Given the description of an element on the screen output the (x, y) to click on. 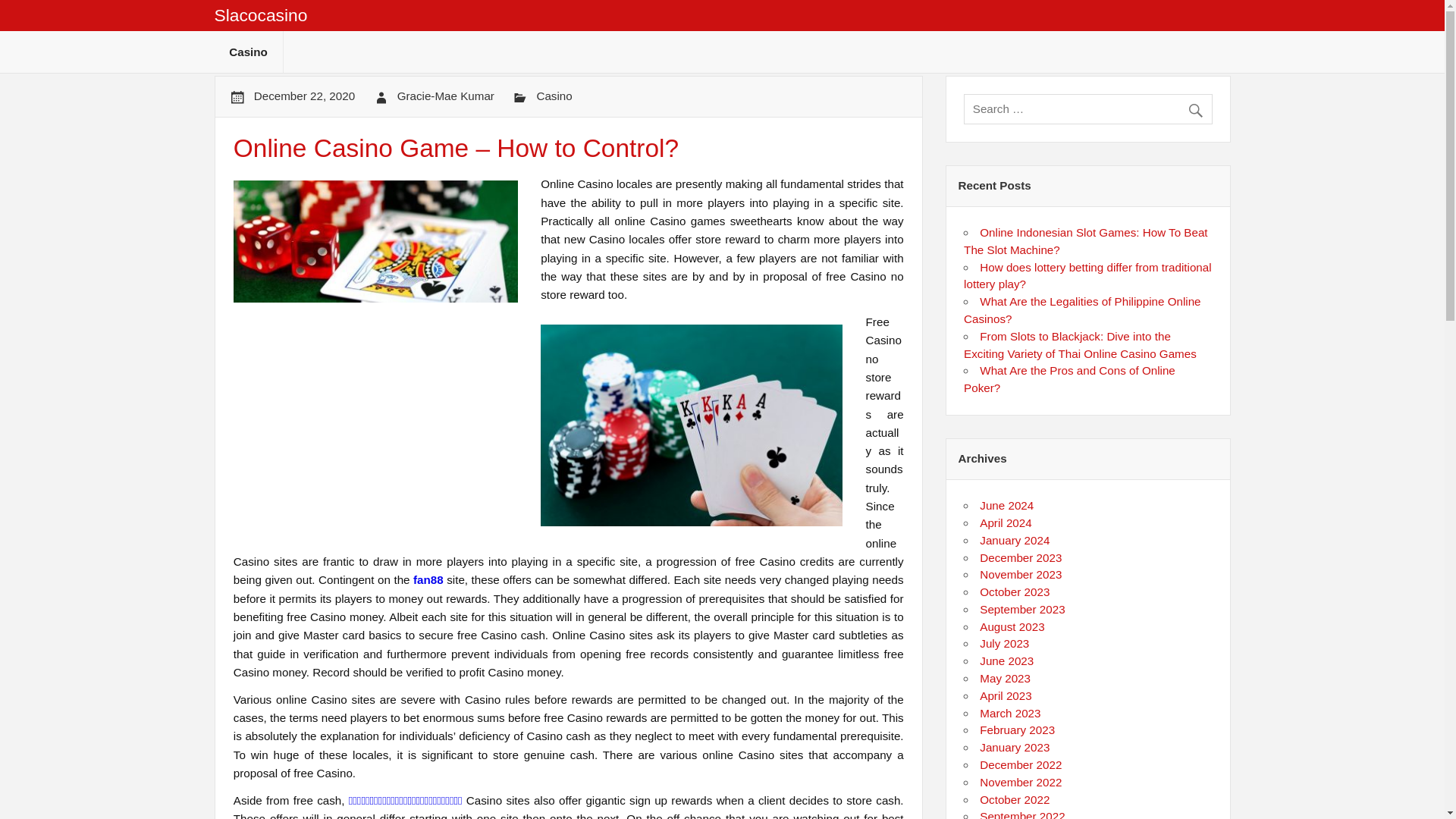
November 2022 (1020, 781)
June 2023 (1006, 660)
December 2022 (1020, 764)
December 2023 (1020, 556)
September 2022 (1021, 814)
August 2023 (1011, 626)
Gracie-Mae Kumar (446, 95)
March 2023 (1010, 712)
October 2023 (1014, 591)
June 2024 (1006, 504)
